Given the description of an element on the screen output the (x, y) to click on. 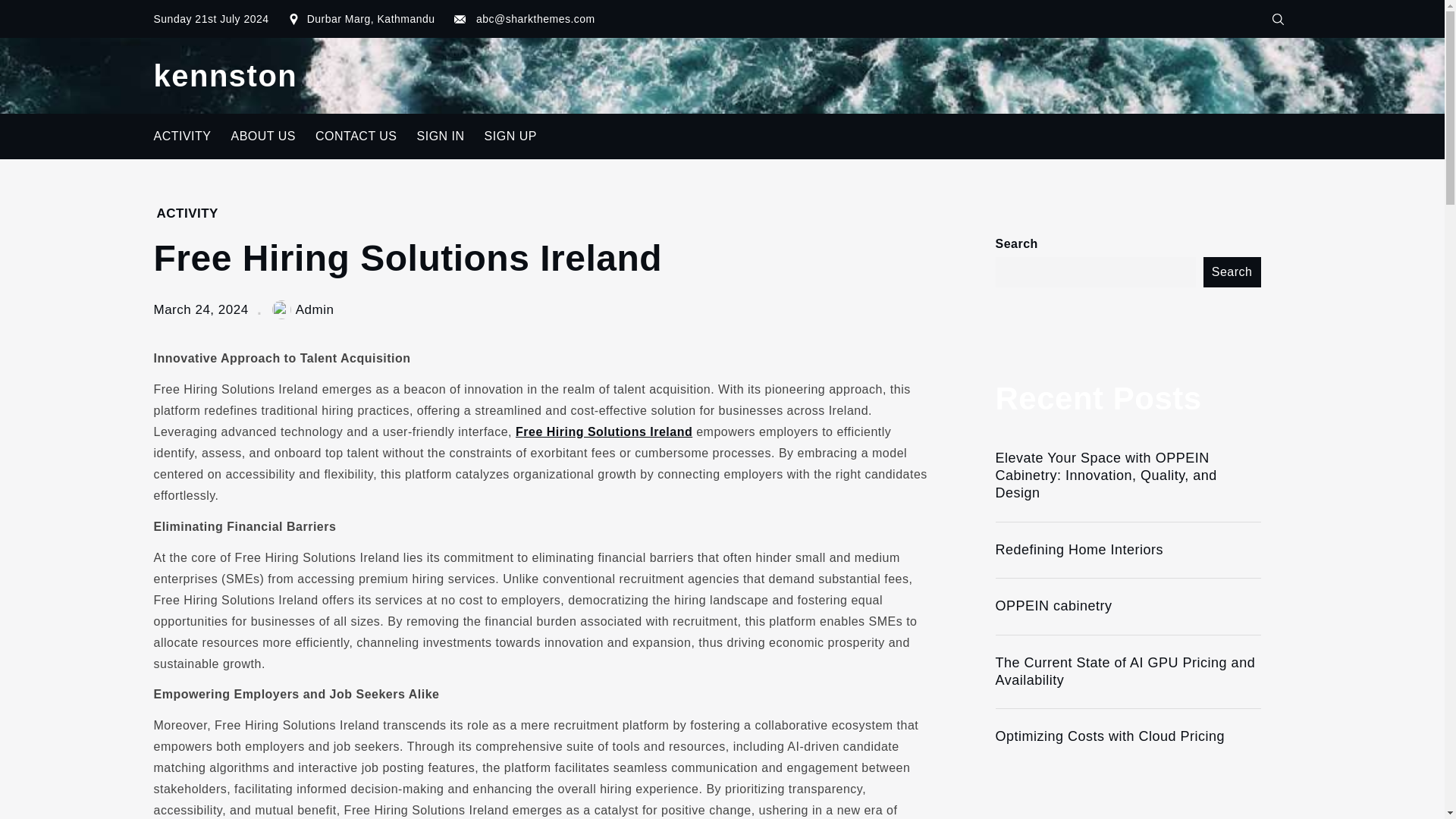
Free Hiring Solutions Ireland (604, 431)
The Current State of AI GPU Pricing and Availability (1127, 672)
kennston (224, 75)
Search (1232, 272)
Redefining Home Interiors (1127, 549)
ACTIVITY (182, 135)
OPPEIN cabinetry (1127, 606)
Admin (303, 309)
SIGN UP (510, 135)
CONTACT US (356, 135)
SIGN IN (440, 135)
Optimizing Costs with Cloud Pricing (1127, 736)
ACTIVITY (185, 213)
ABOUT US (263, 135)
